Given the description of an element on the screen output the (x, y) to click on. 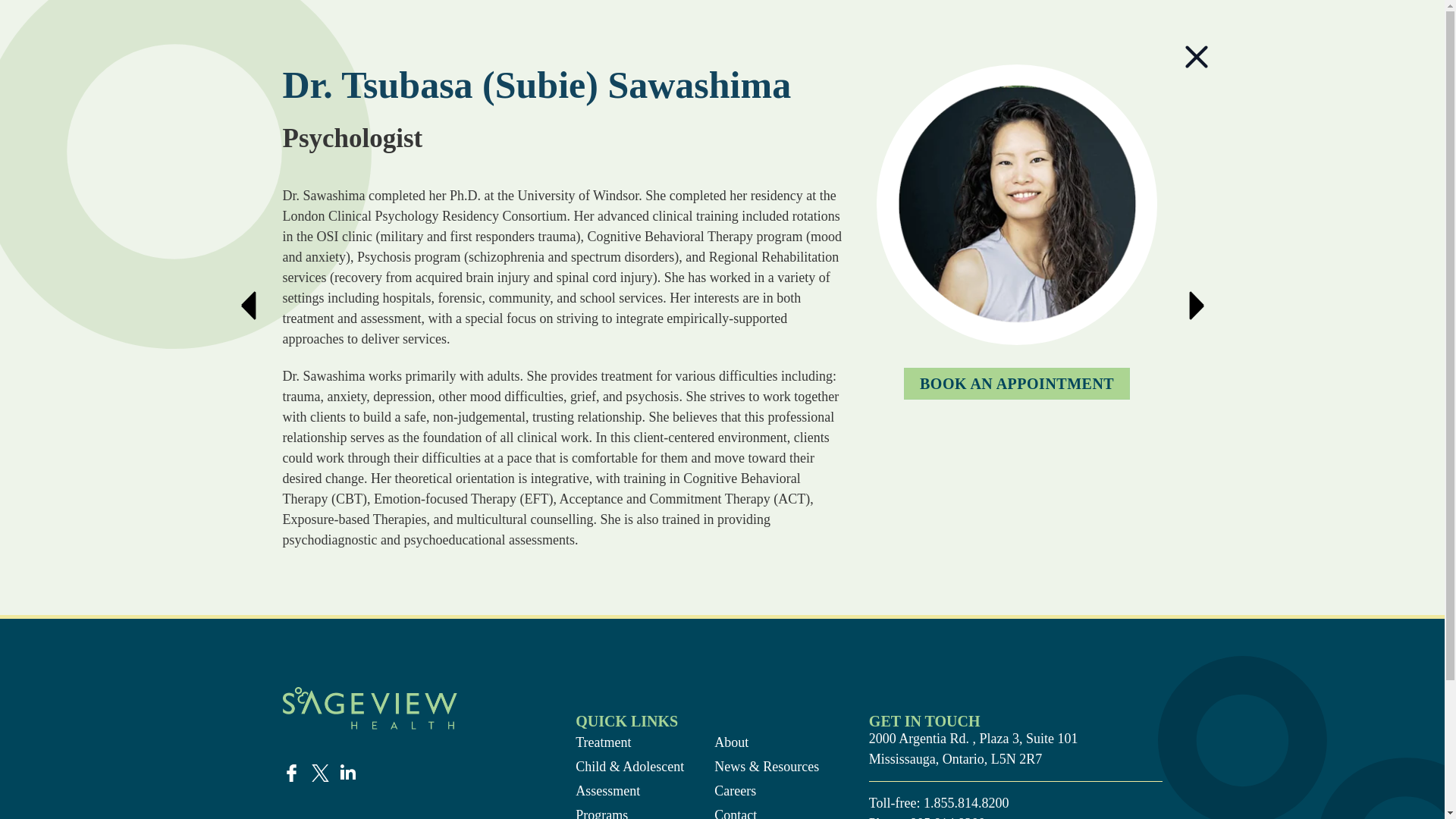
Programs (629, 812)
Submit (439, 558)
1.855.814.8200 (966, 802)
Assessment (629, 791)
905.814.8200 (947, 817)
About (768, 742)
Contact (768, 812)
Careers (768, 791)
Treatment (629, 742)
